Given the description of an element on the screen output the (x, y) to click on. 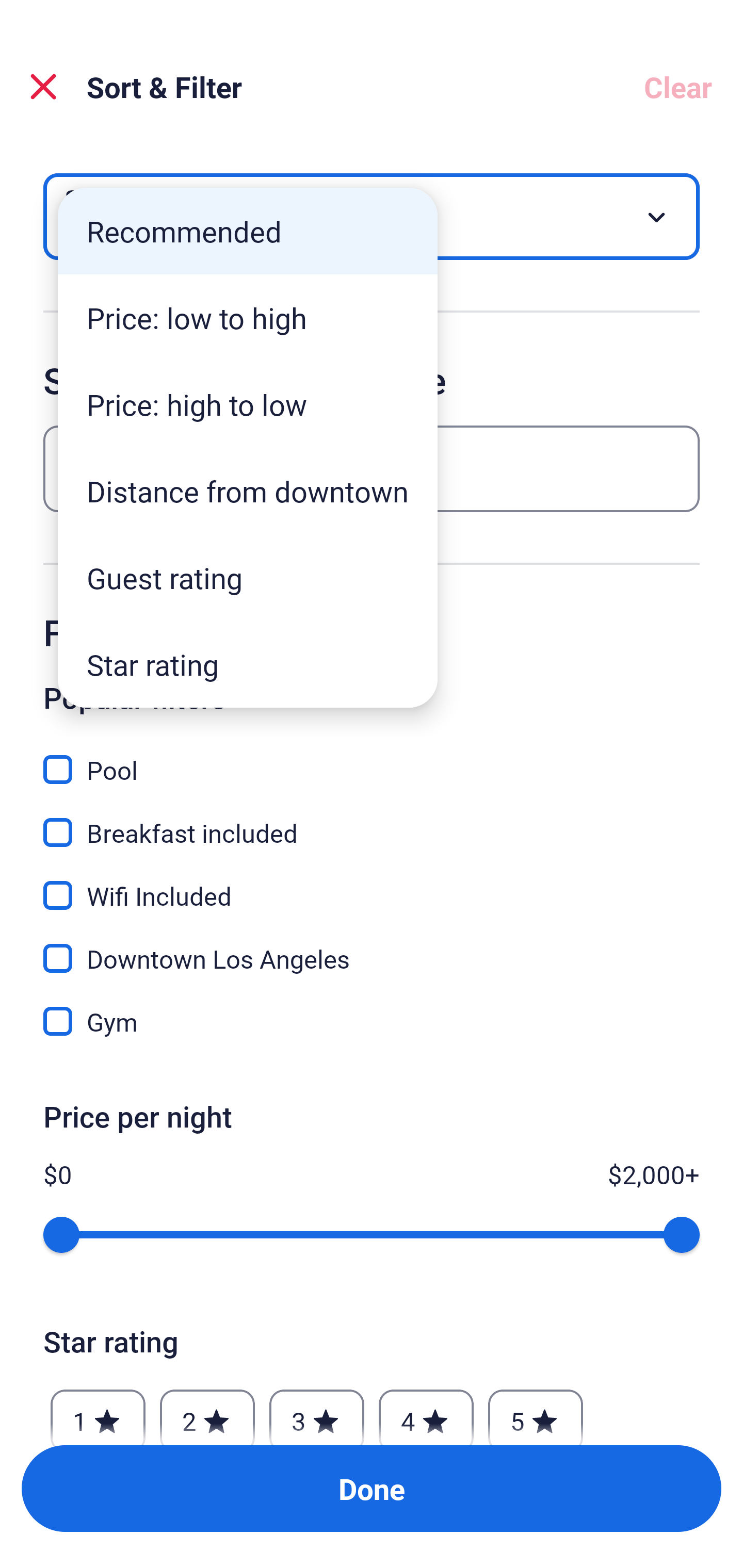
Price: low to high (247, 317)
Price: high to low (247, 404)
Distance from downtown (247, 491)
Guest rating (247, 577)
Star rating (247, 663)
